Given the description of an element on the screen output the (x, y) to click on. 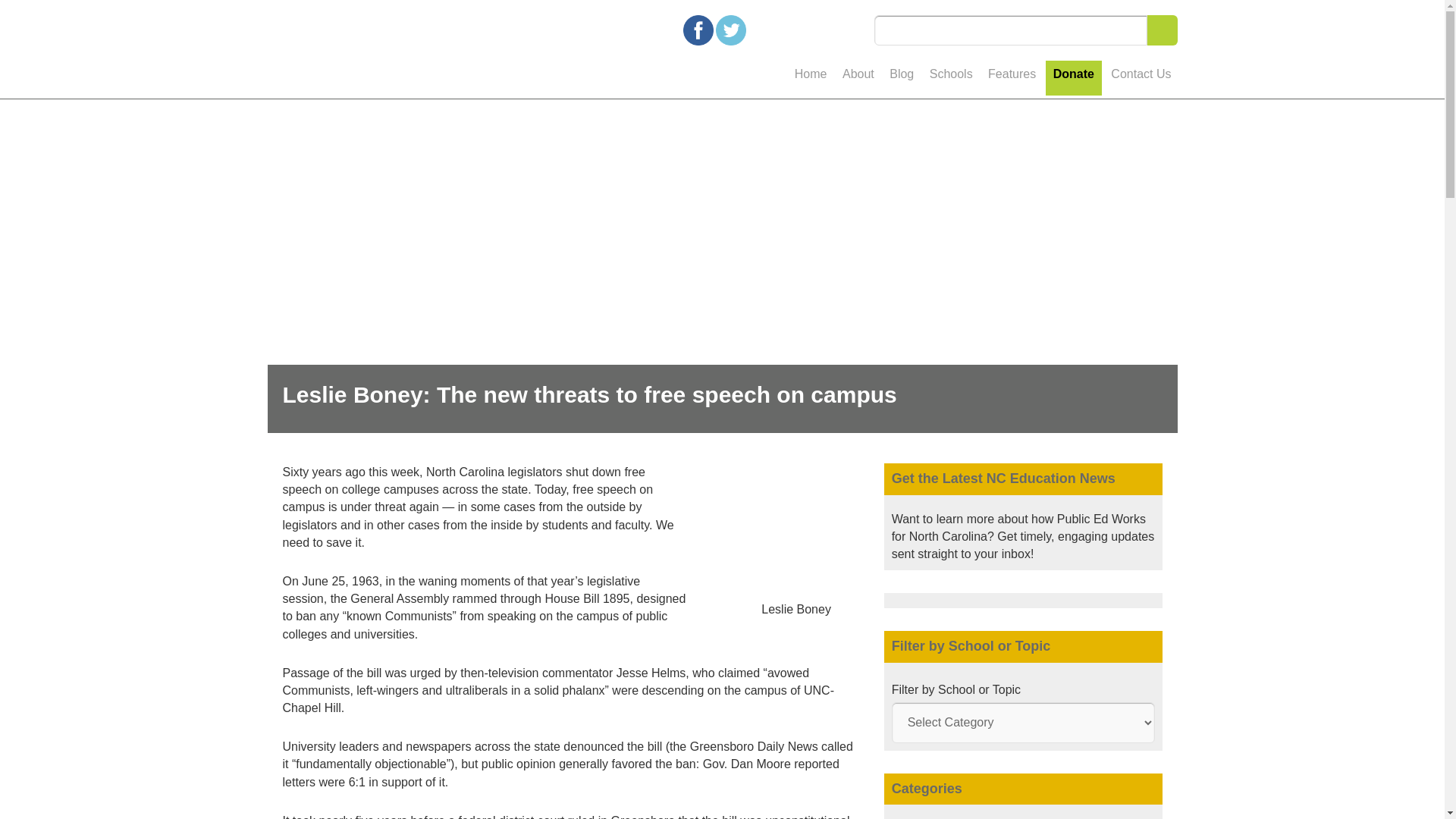
Contact Us (1140, 78)
Blog (901, 78)
Donate (1073, 77)
About (857, 78)
Features (1011, 78)
Schools (950, 78)
Home (810, 78)
